Given the description of an element on the screen output the (x, y) to click on. 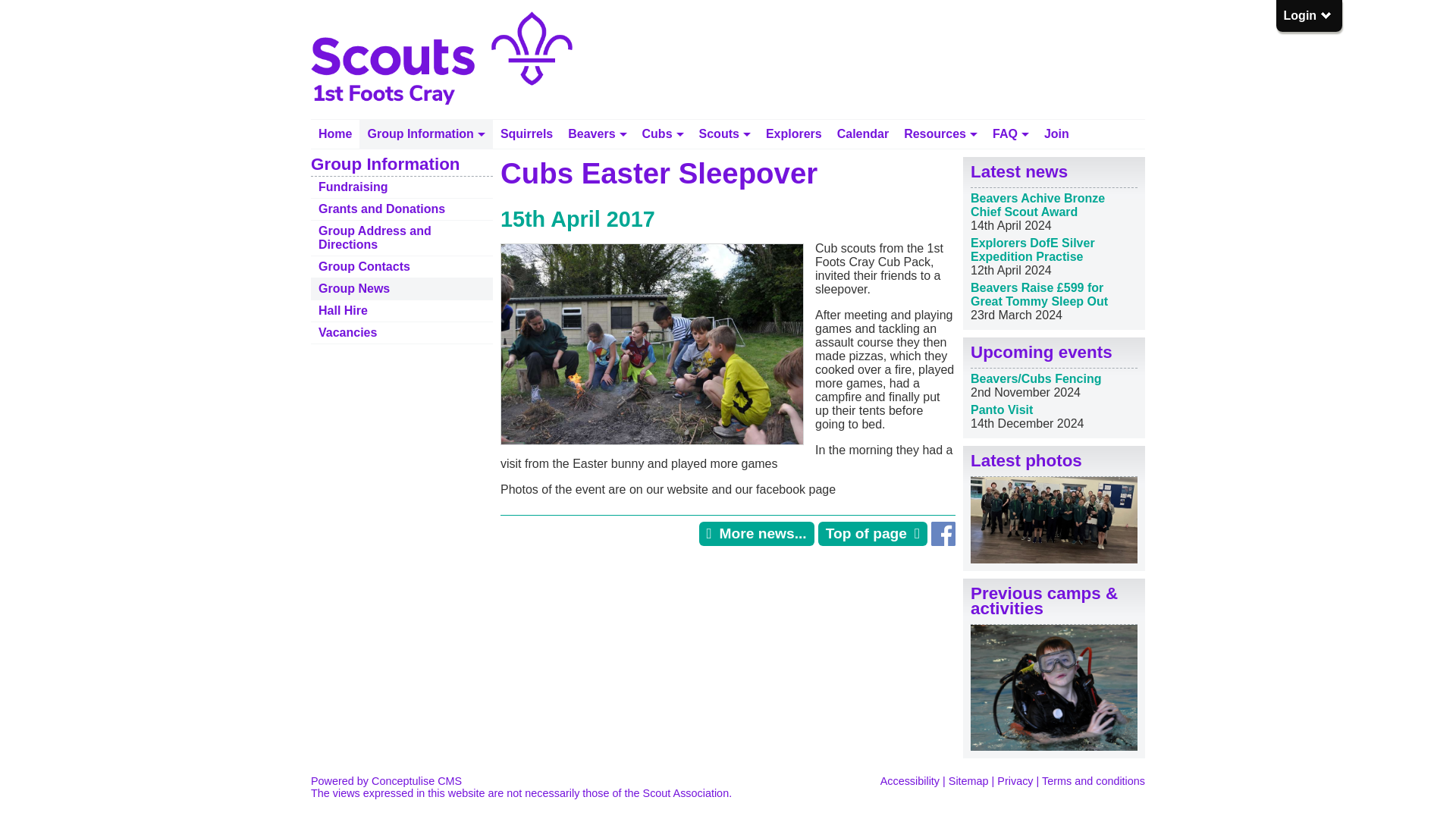
Fundraising (402, 187)
Vacancies (402, 332)
Grants and Donations (402, 209)
Group Address and Directions (402, 237)
1st Foots Cray Scout Group Facebook (943, 541)
Website privacy statement (1014, 780)
Login (1308, 15)
1st Foots Cray Scout Group homepage (335, 133)
Hall Hire (402, 310)
Website Accessibility (909, 780)
